Given the description of an element on the screen output the (x, y) to click on. 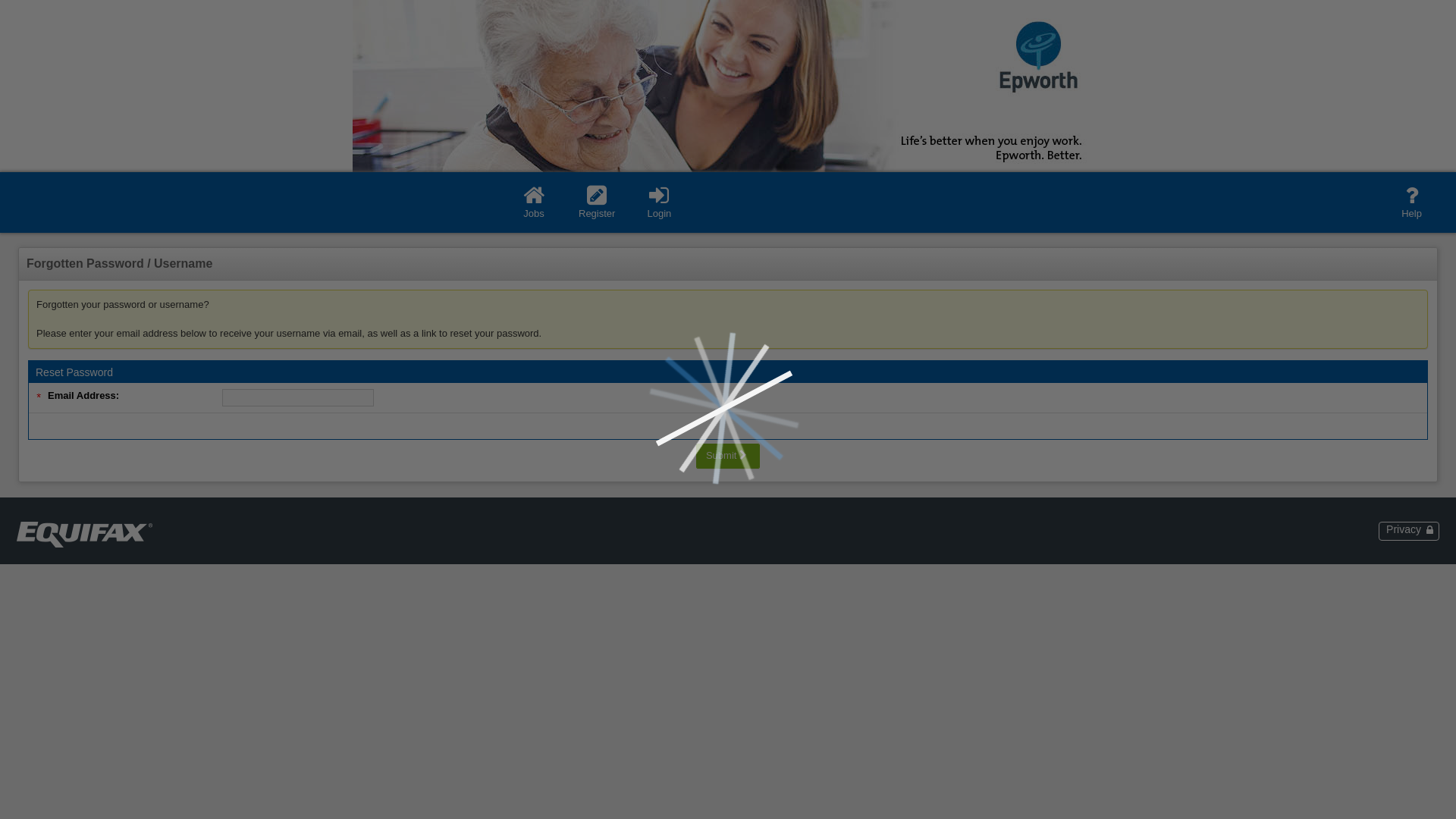
Help Element type: text (1411, 202)
Submit Element type: text (727, 455)
Login Element type: text (658, 202)
Jobs Element type: text (533, 202)
Register Element type: text (596, 202)
Privacy Element type: text (1409, 529)
